Given the description of an element on the screen output the (x, y) to click on. 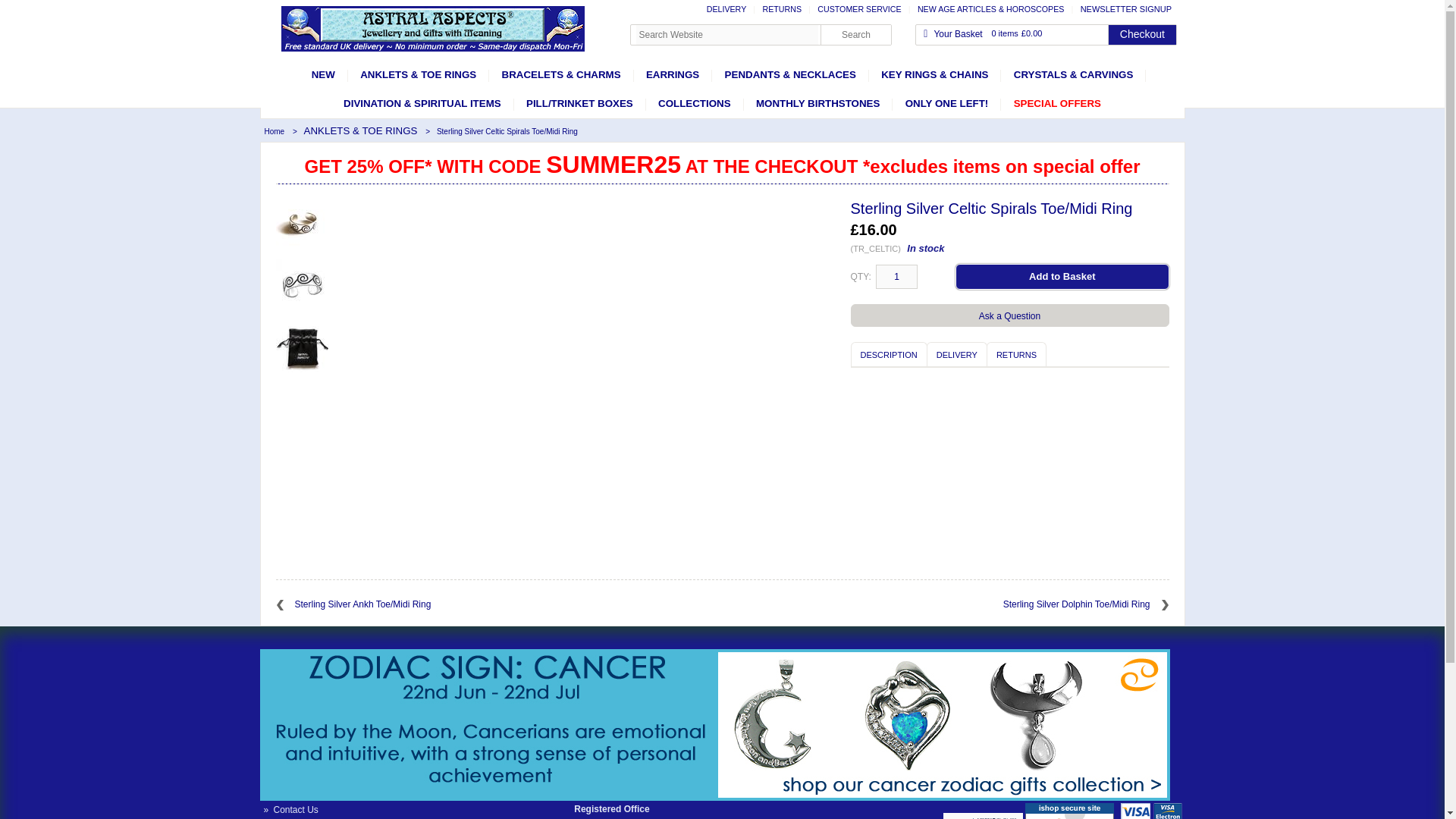
NEW (322, 74)
Add to Basket (1062, 276)
SPECIAL OFFERS (1057, 103)
DELIVERY (728, 8)
MONTHLY BIRTHSTONES (817, 103)
DELIVERY (956, 354)
DESCRIPTION (888, 354)
1 (896, 276)
Home (275, 131)
CUSTOMER SERVICE (861, 8)
RETURNS (784, 8)
Search (855, 35)
EARRINGS (672, 74)
